Given the description of an element on the screen output the (x, y) to click on. 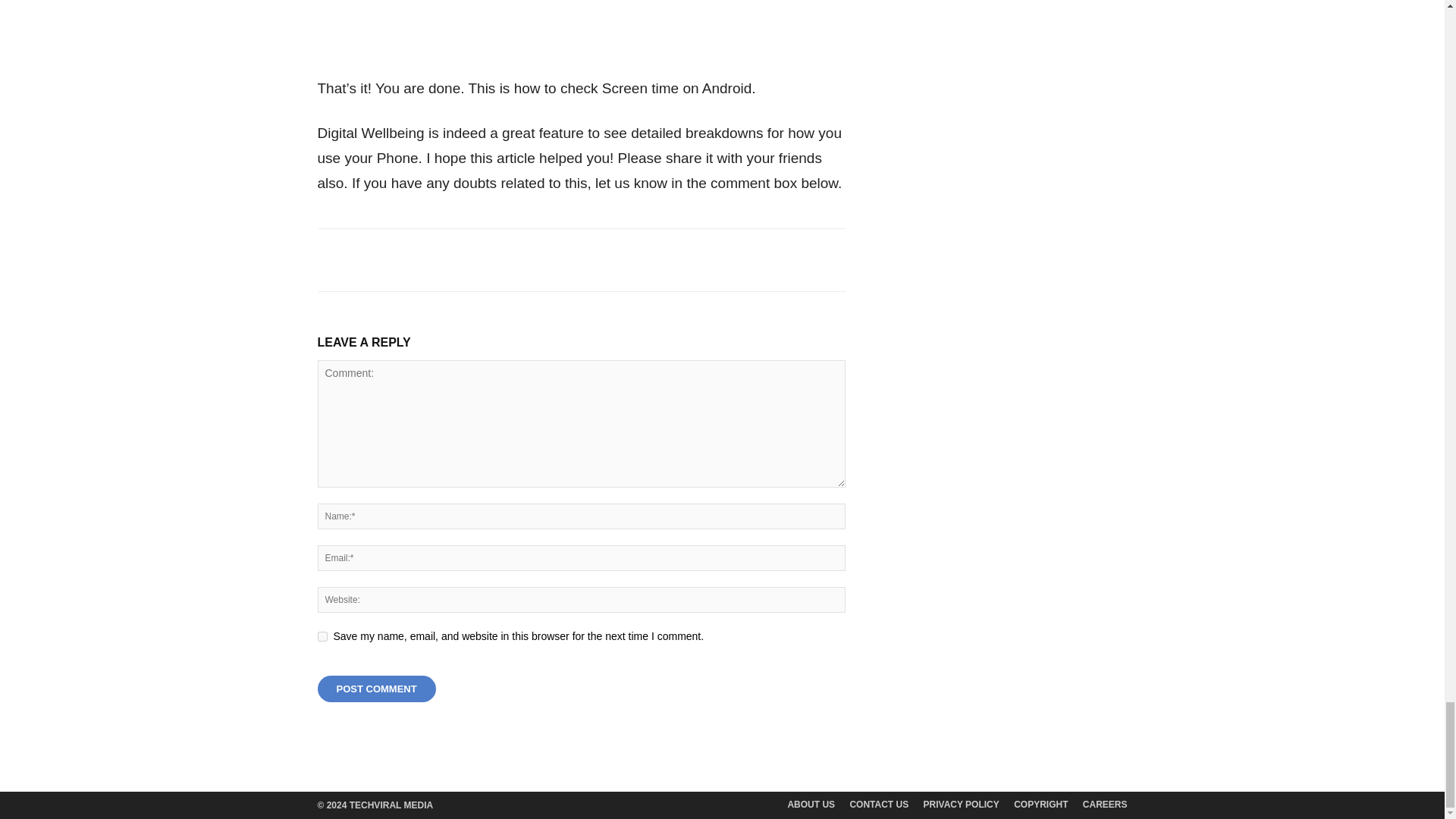
Post Comment (376, 688)
yes (321, 636)
